Given the description of an element on the screen output the (x, y) to click on. 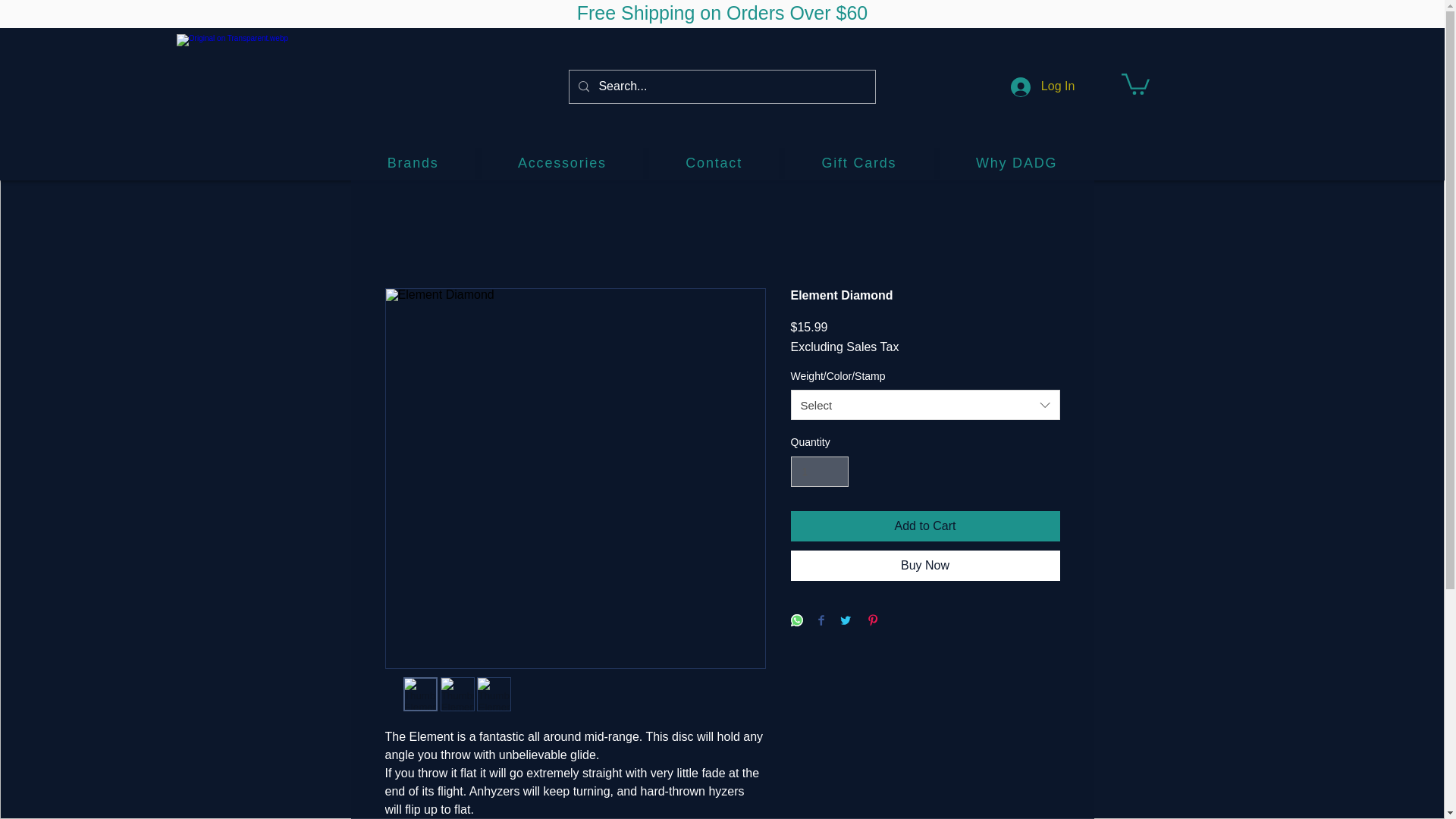
Select (924, 404)
Gift Cards (858, 163)
Why DADG (1016, 163)
Log In (1042, 86)
Contact (713, 163)
Add to Cart (924, 526)
Buy Now (924, 565)
1 (818, 471)
